Given the description of an element on the screen output the (x, y) to click on. 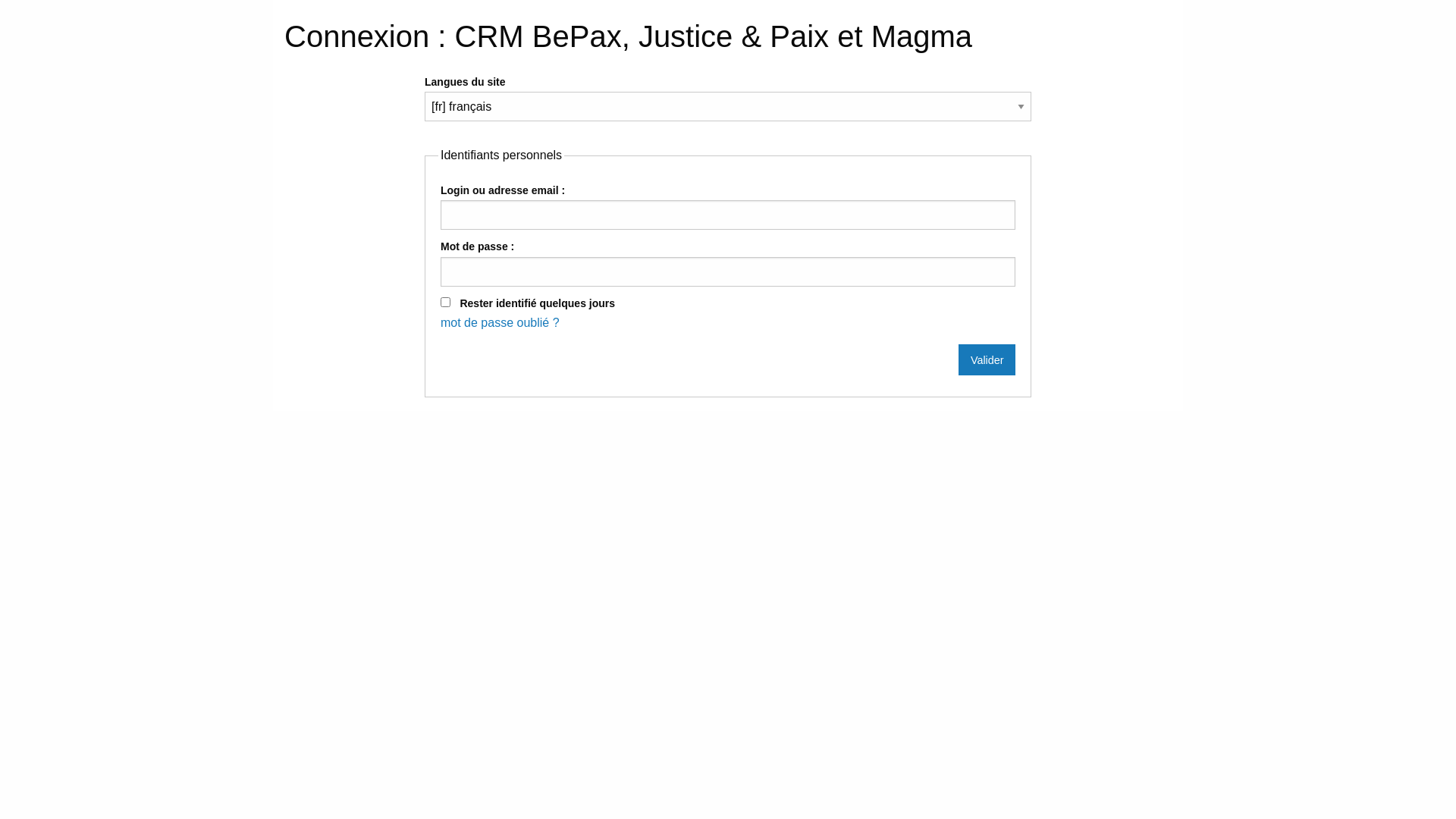
Valider Element type: text (986, 359)
